Given the description of an element on the screen output the (x, y) to click on. 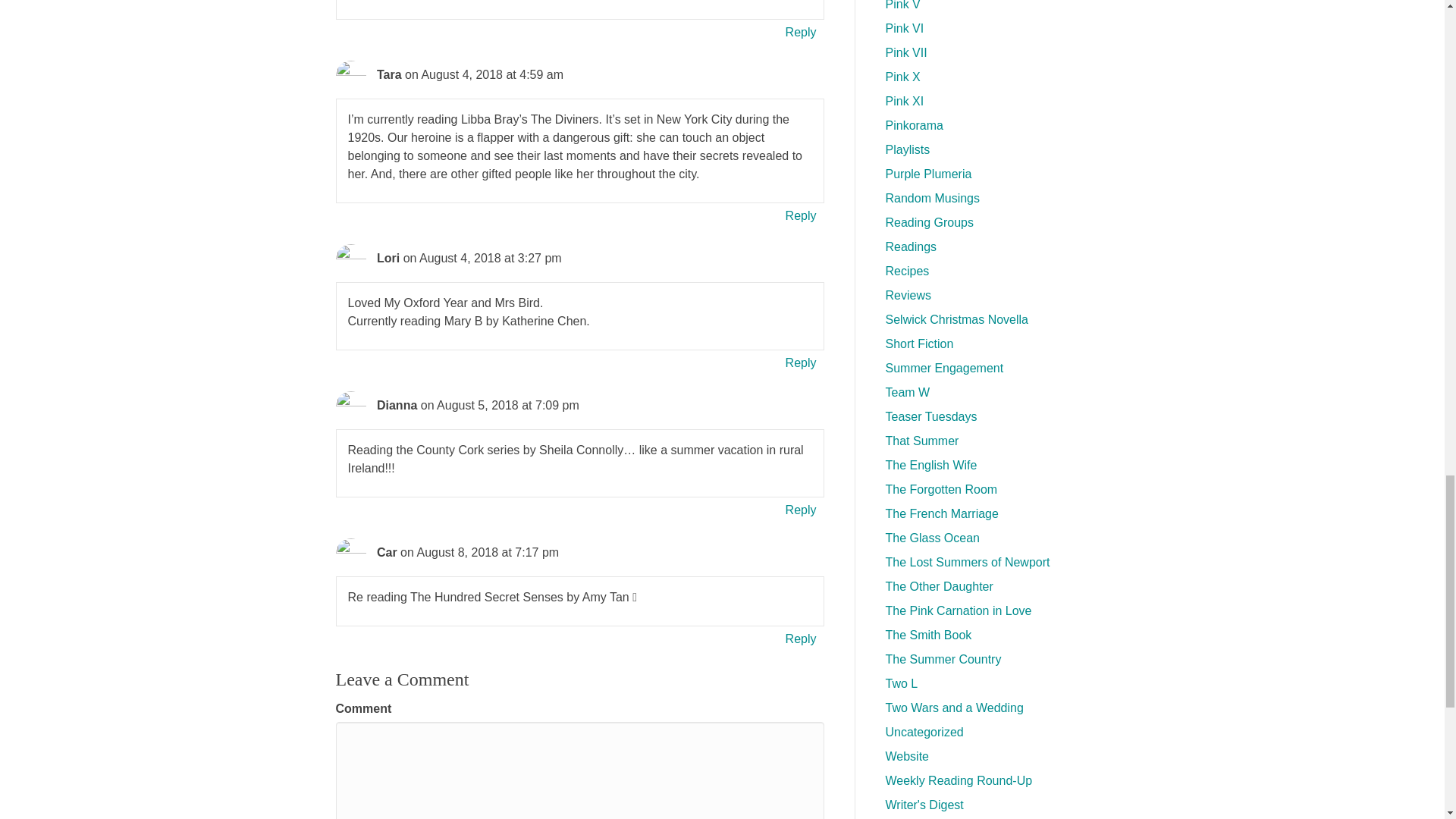
Reply (801, 32)
Reply (801, 362)
Reply (801, 215)
Reply (801, 638)
Reply (801, 509)
